Given the description of an element on the screen output the (x, y) to click on. 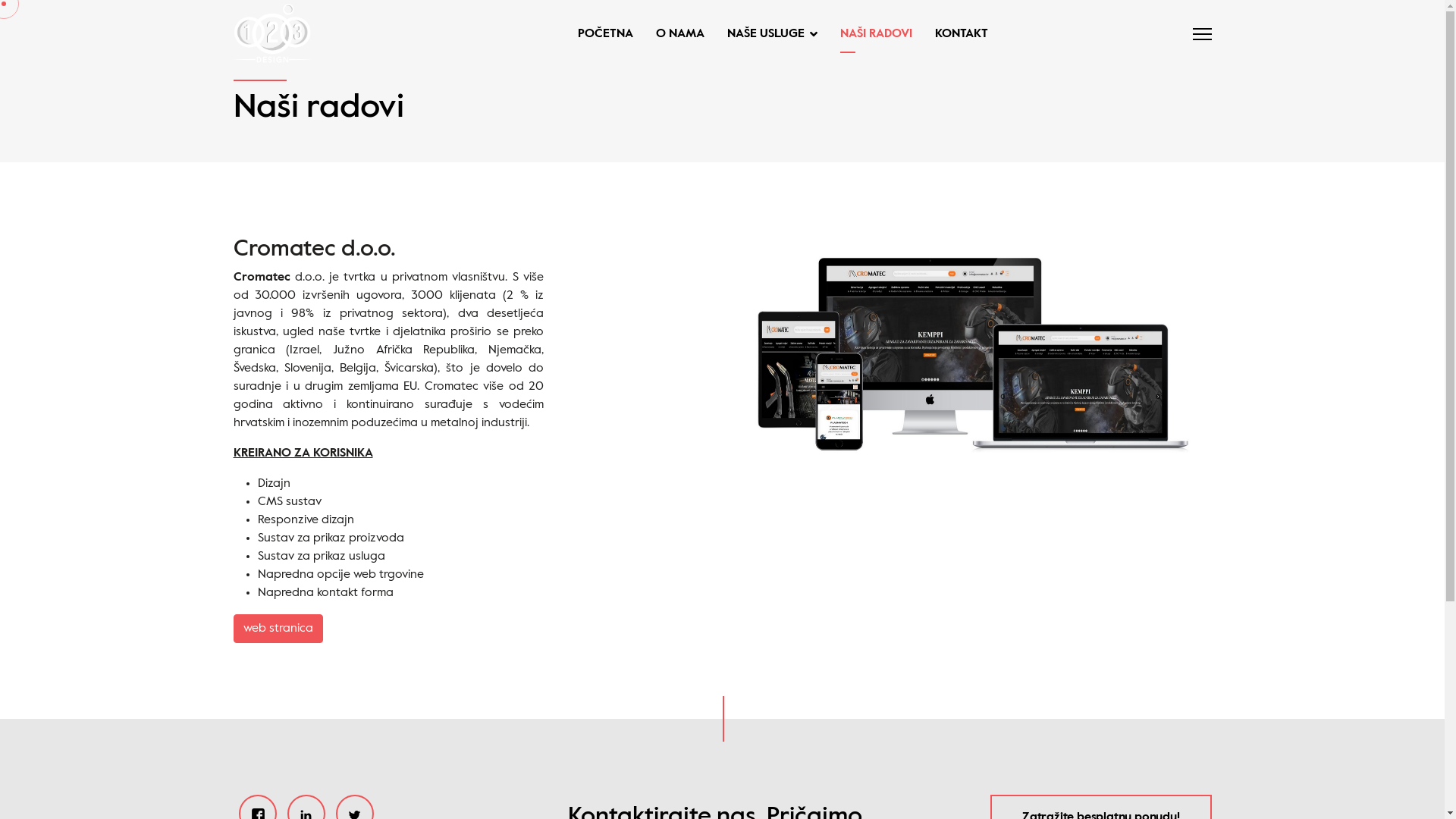
KONTAKT Element type: text (955, 34)
Menu Element type: hover (1201, 34)
web stranica Element type: text (278, 628)
O NAMA Element type: text (679, 34)
